Given the description of an element on the screen output the (x, y) to click on. 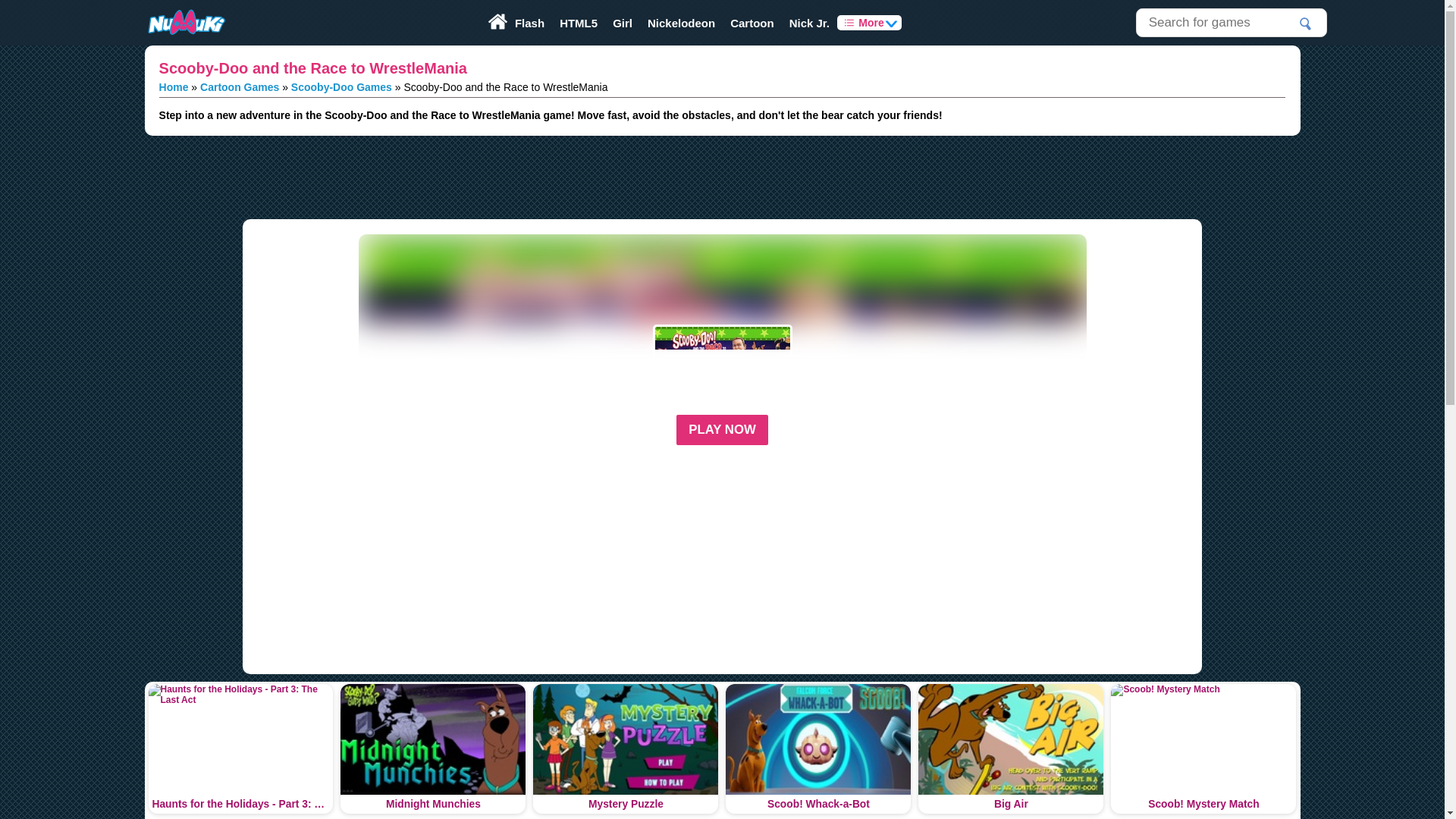
Nickelodeon Games (681, 22)
Play Fun Browser Games (185, 22)
Nick Jr. Games (809, 22)
Girl (622, 22)
Nick Jr. (809, 22)
Cartoon Games (751, 22)
Flash Games (528, 22)
More (869, 22)
Cartoon (751, 22)
HTML5 (578, 22)
Girl Games (622, 22)
Cartoon Games (239, 87)
HTML5 Games (578, 22)
Nickelodeon (681, 22)
